Given the description of an element on the screen output the (x, y) to click on. 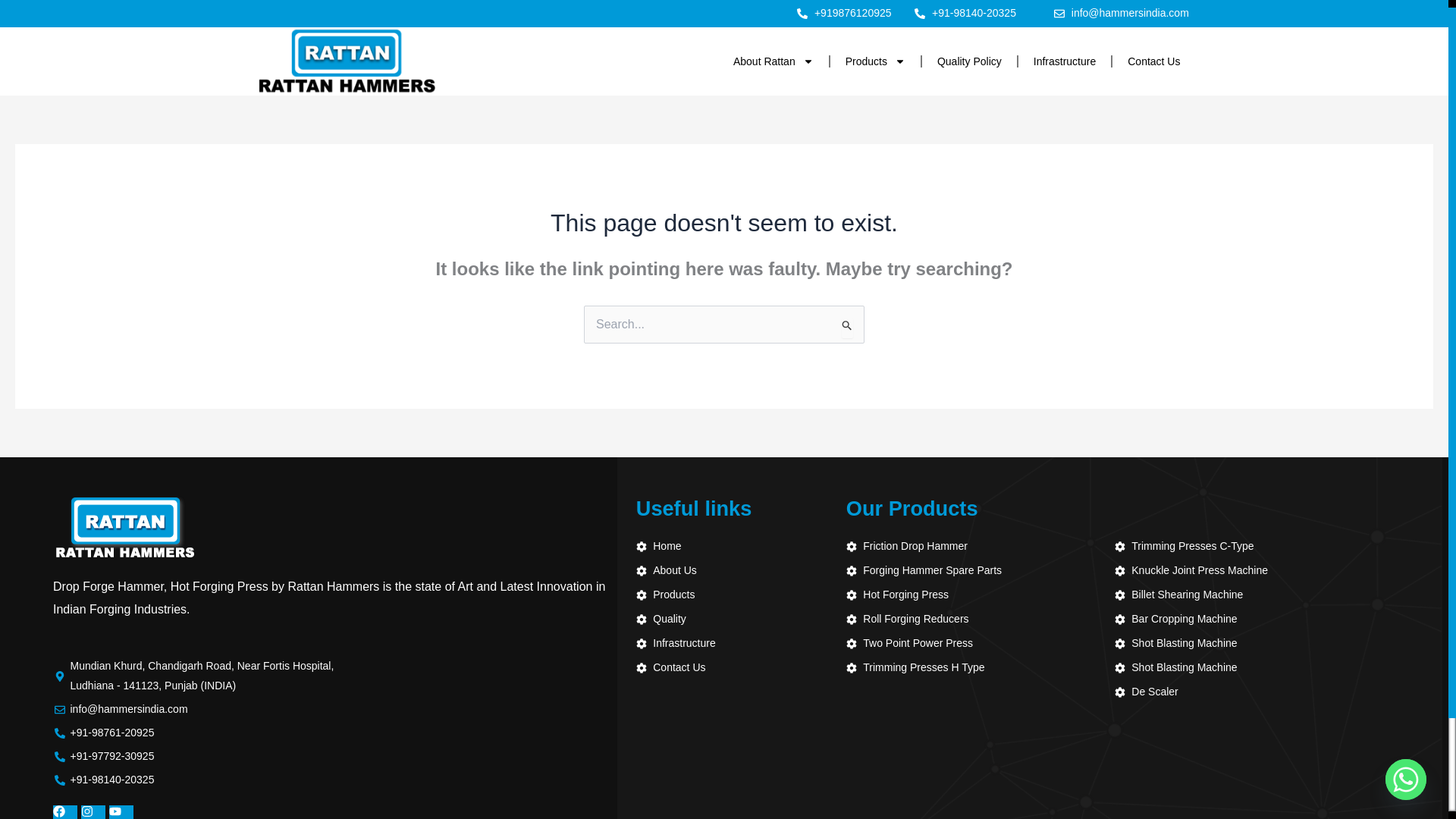
Products (874, 61)
Infrastructure (1063, 61)
Contact Us (1153, 61)
About Rattan (772, 61)
Quality Policy (968, 61)
